Given the description of an element on the screen output the (x, y) to click on. 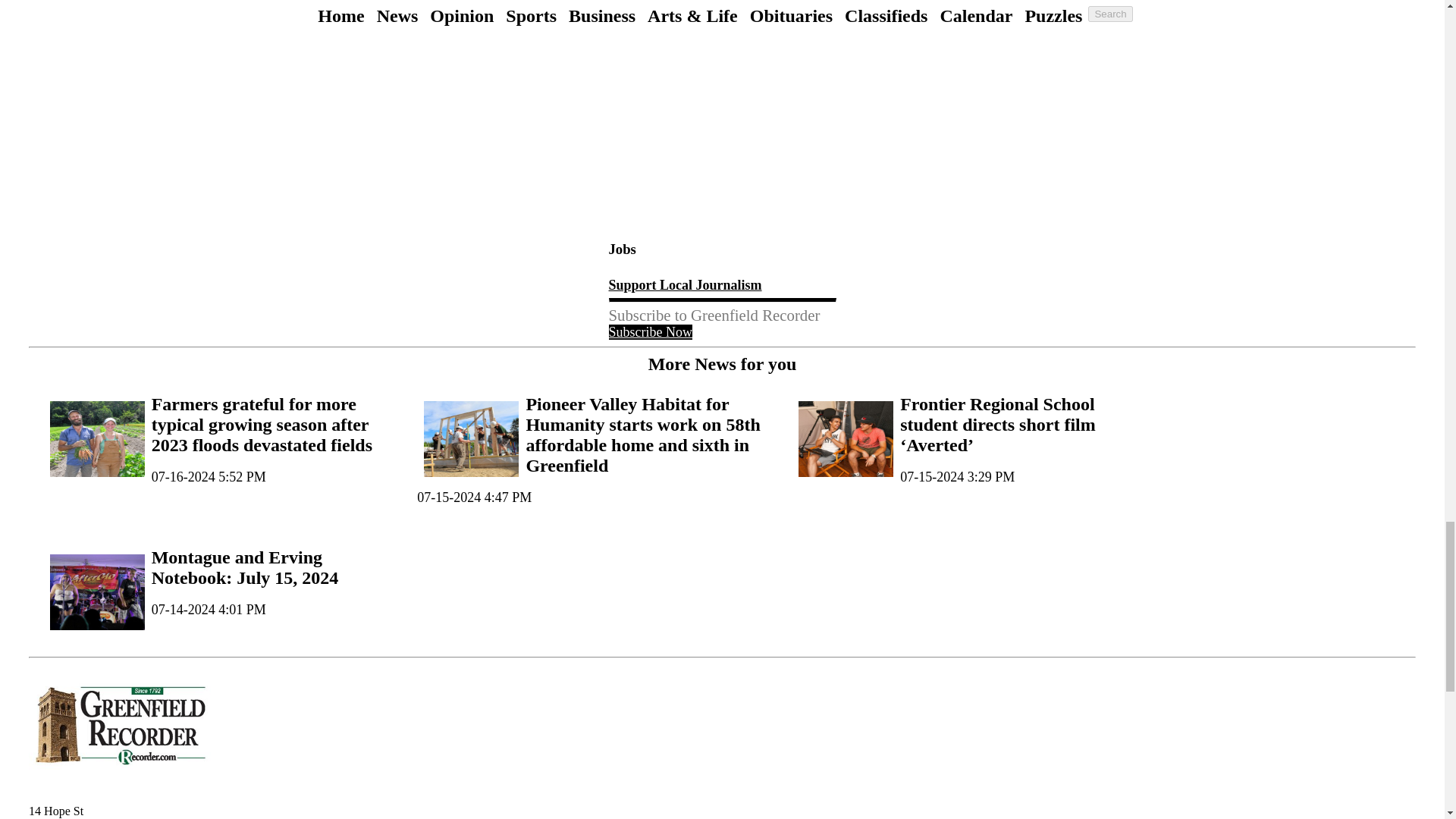
Support Local Journalism (684, 284)
Subscribe Now (650, 331)
